Given the description of an element on the screen output the (x, y) to click on. 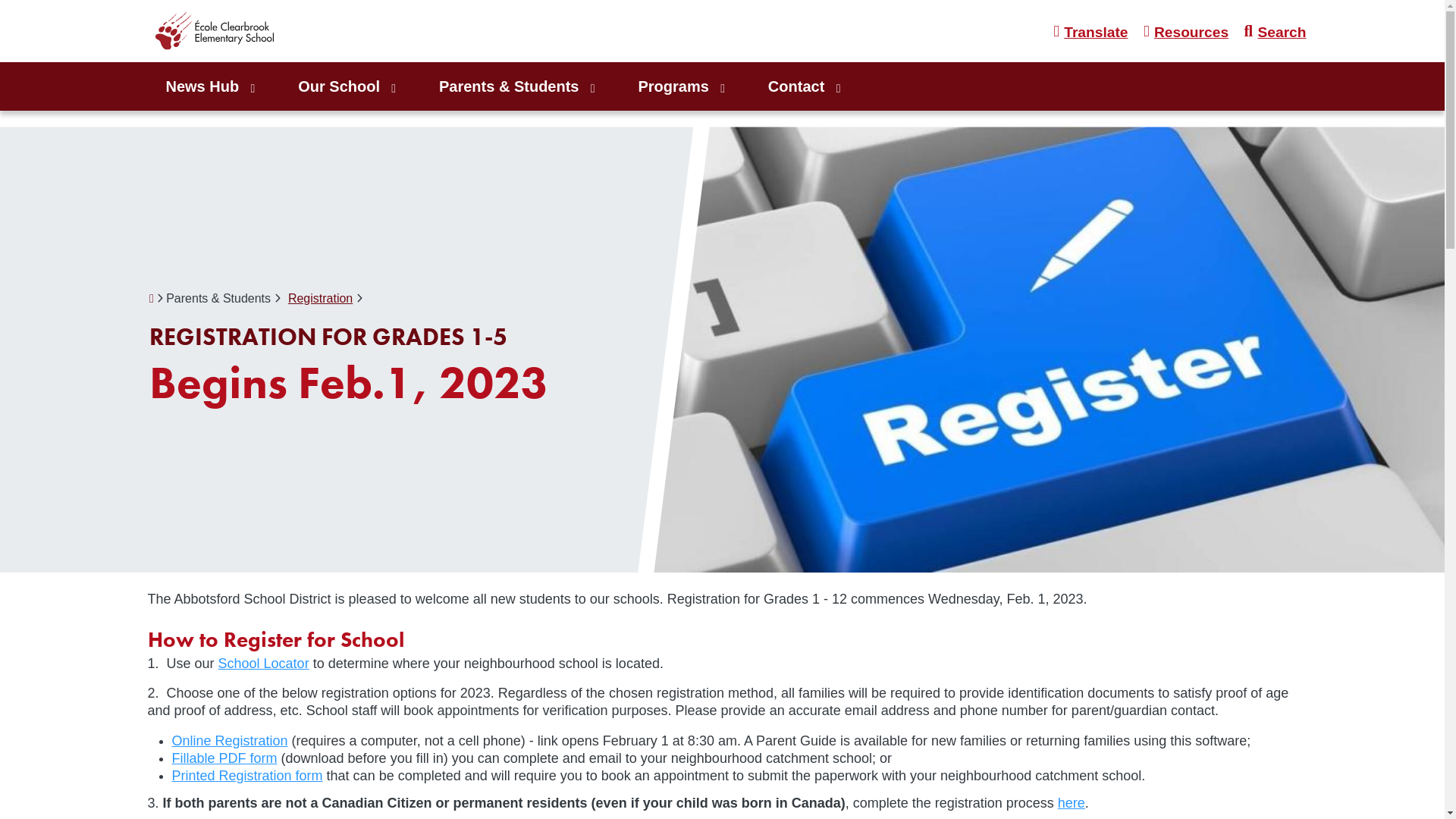
Search Element type: text (1278, 32)
Translate Element type: text (1095, 32)
Online Registration Element type: text (229, 740)
Printed Registration form Element type: text (246, 775)
Registration Element type: text (320, 297)
School Locator Element type: text (263, 663)
here Element type: text (1071, 802)
Home Element type: hover (238, 31)
Skip to main content Element type: text (0, 0)
Resources Element type: text (1189, 32)
Fillable PDF form Element type: text (223, 757)
